Given the description of an element on the screen output the (x, y) to click on. 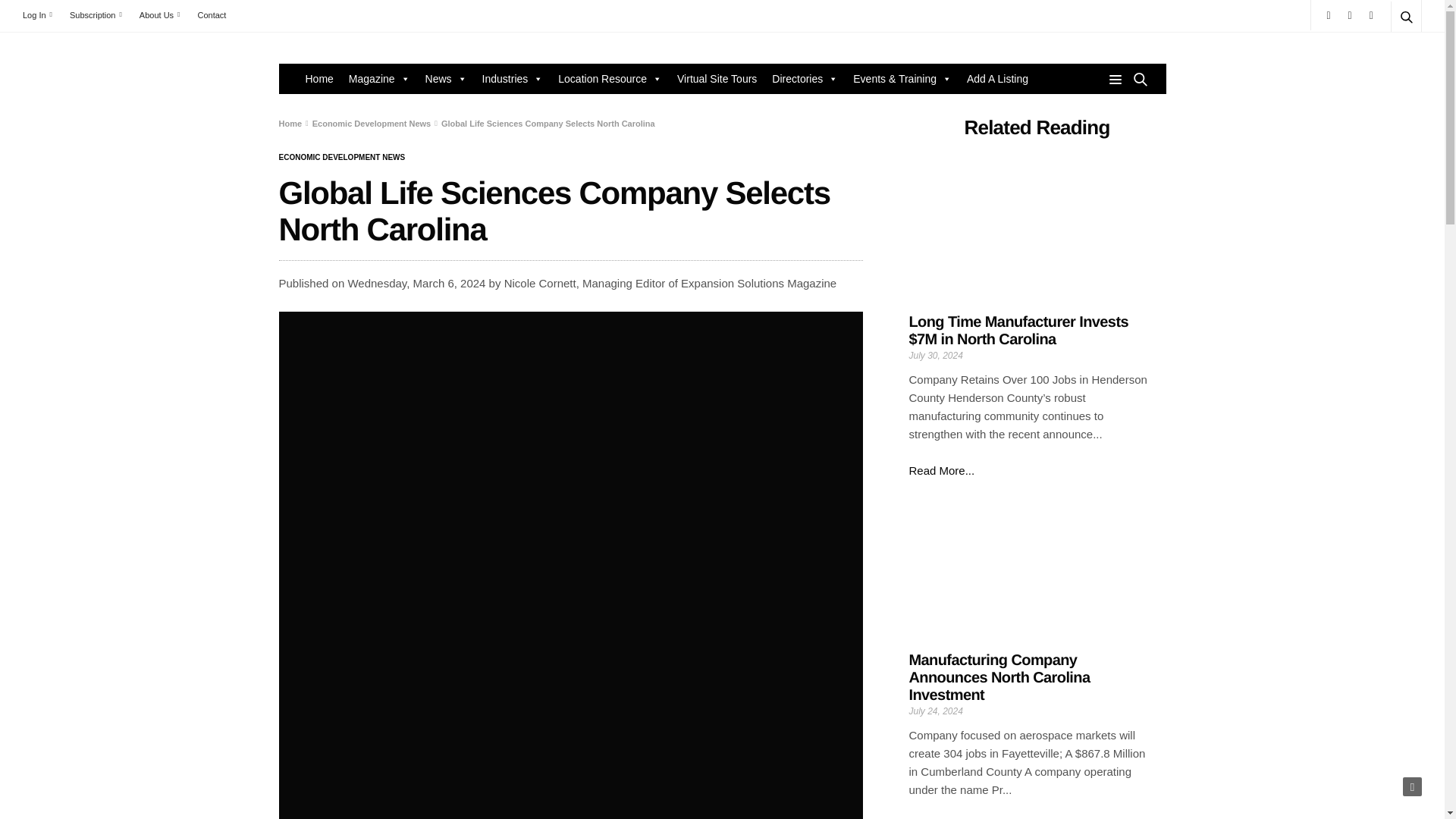
Magazine (378, 78)
Contact (210, 15)
News (445, 78)
Search (1386, 53)
Log In (41, 15)
About Us (159, 15)
Economic Development News (342, 157)
Subscription (95, 15)
Home (318, 78)
